Given the description of an element on the screen output the (x, y) to click on. 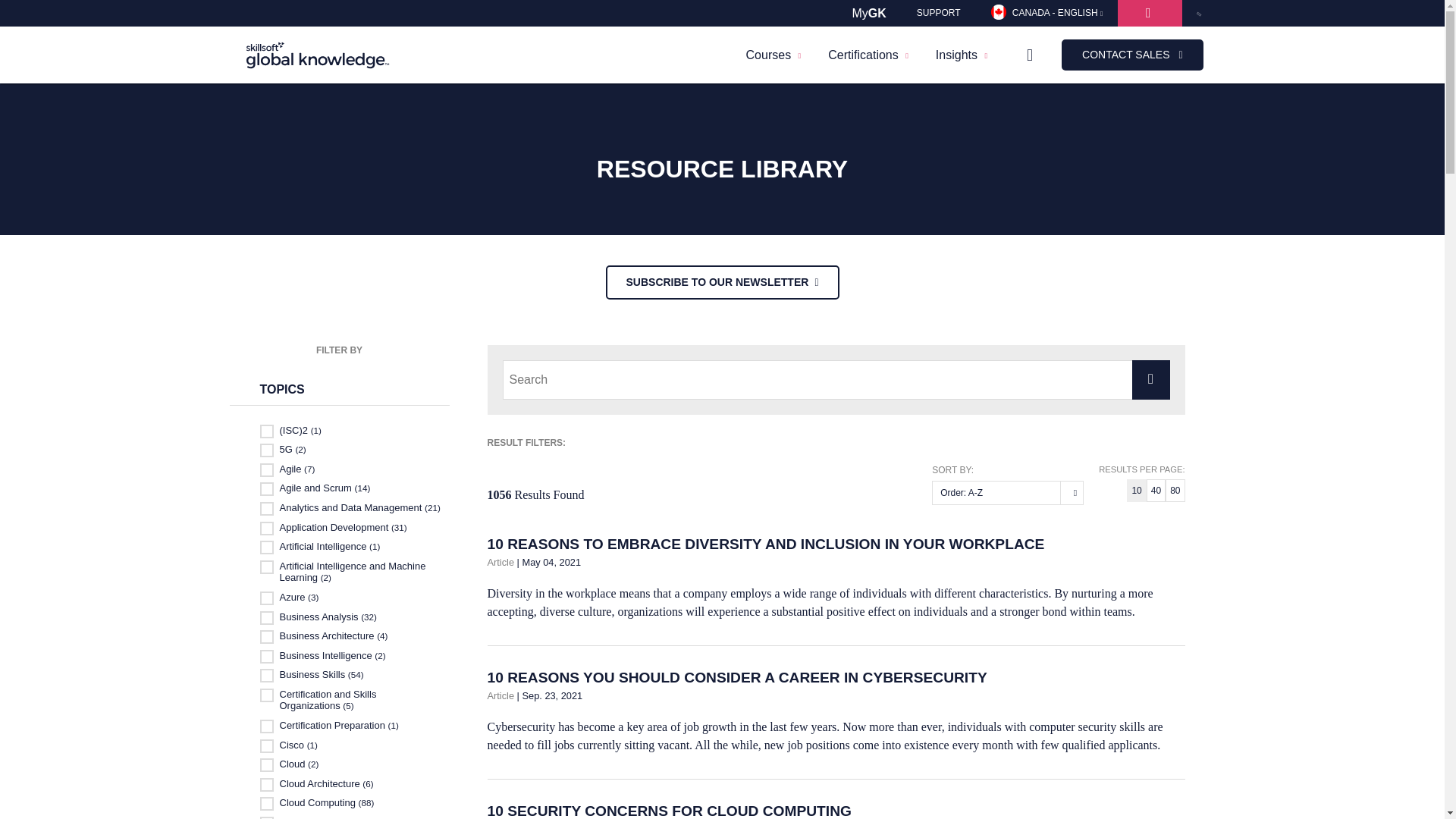
MyGK (868, 13)
Courses (773, 54)
CANADA - ENGLISH (1046, 13)
SUPPORT (938, 13)
